Given the description of an element on the screen output the (x, y) to click on. 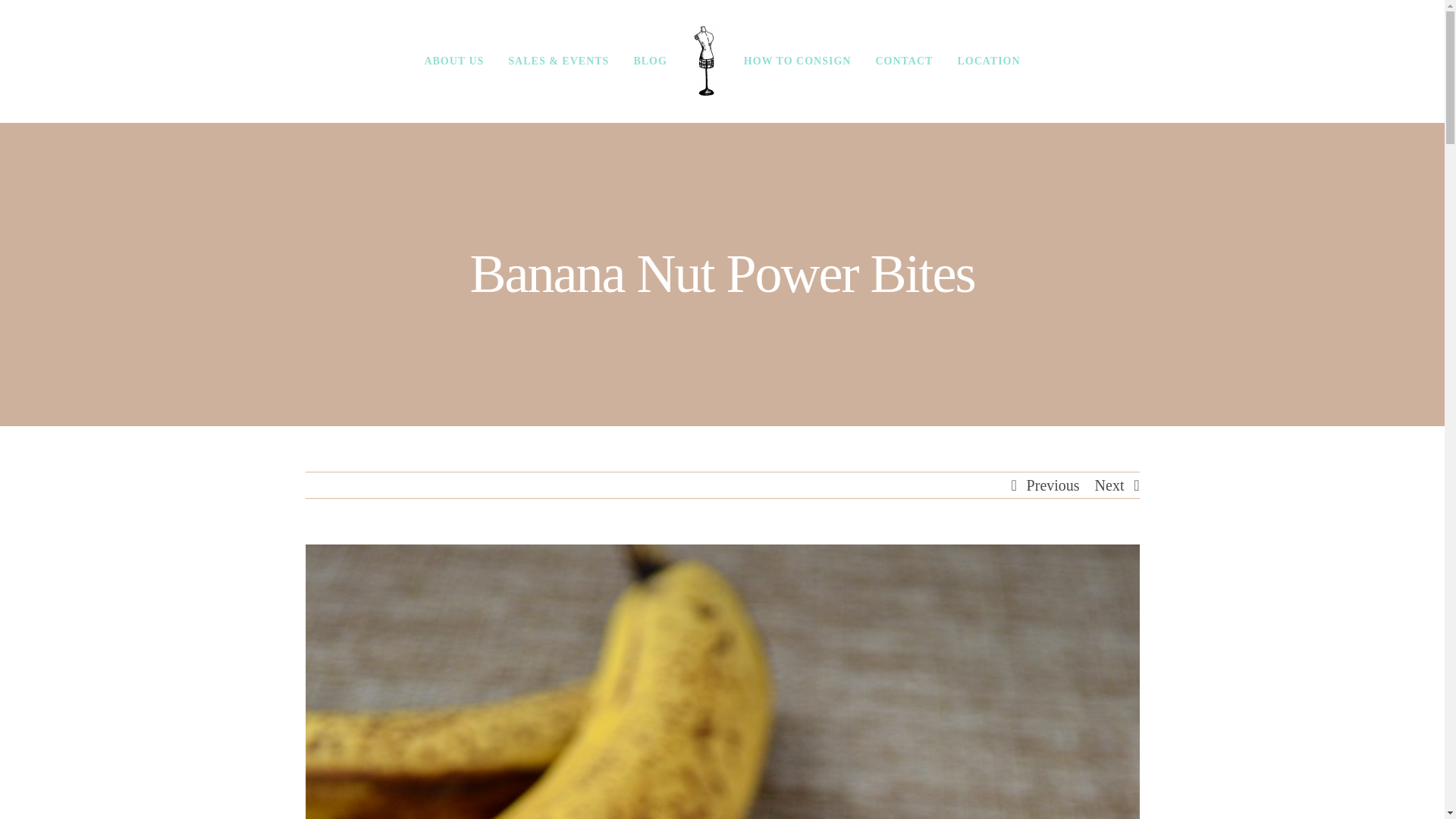
ABOUT US (454, 61)
Next (1109, 484)
HOW TO CONSIGN (797, 61)
BLOG (649, 61)
Previous (1053, 484)
CONTACT (903, 61)
LOCATION (988, 61)
